Given the description of an element on the screen output the (x, y) to click on. 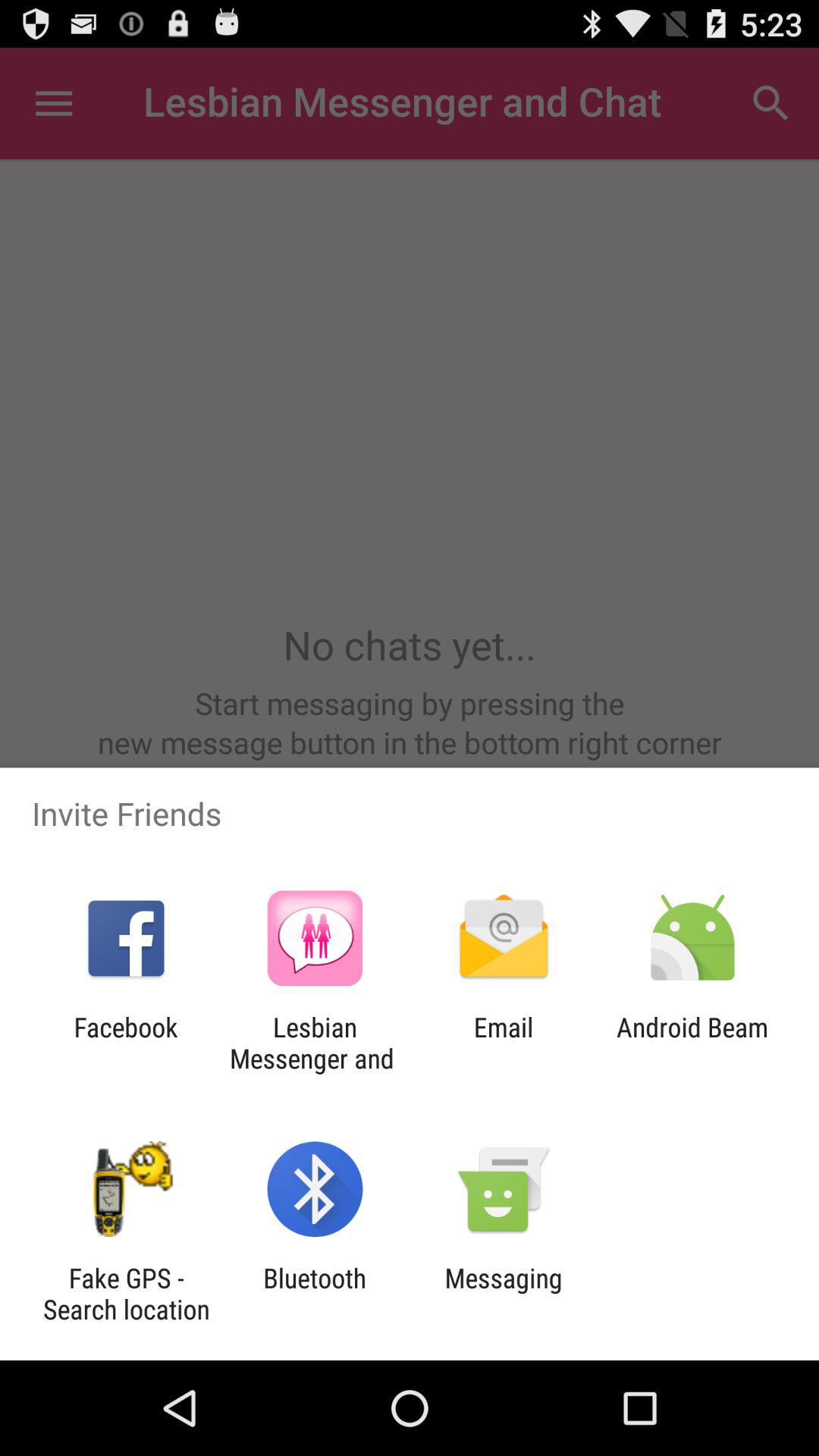
turn on email item (503, 1042)
